Given the description of an element on the screen output the (x, y) to click on. 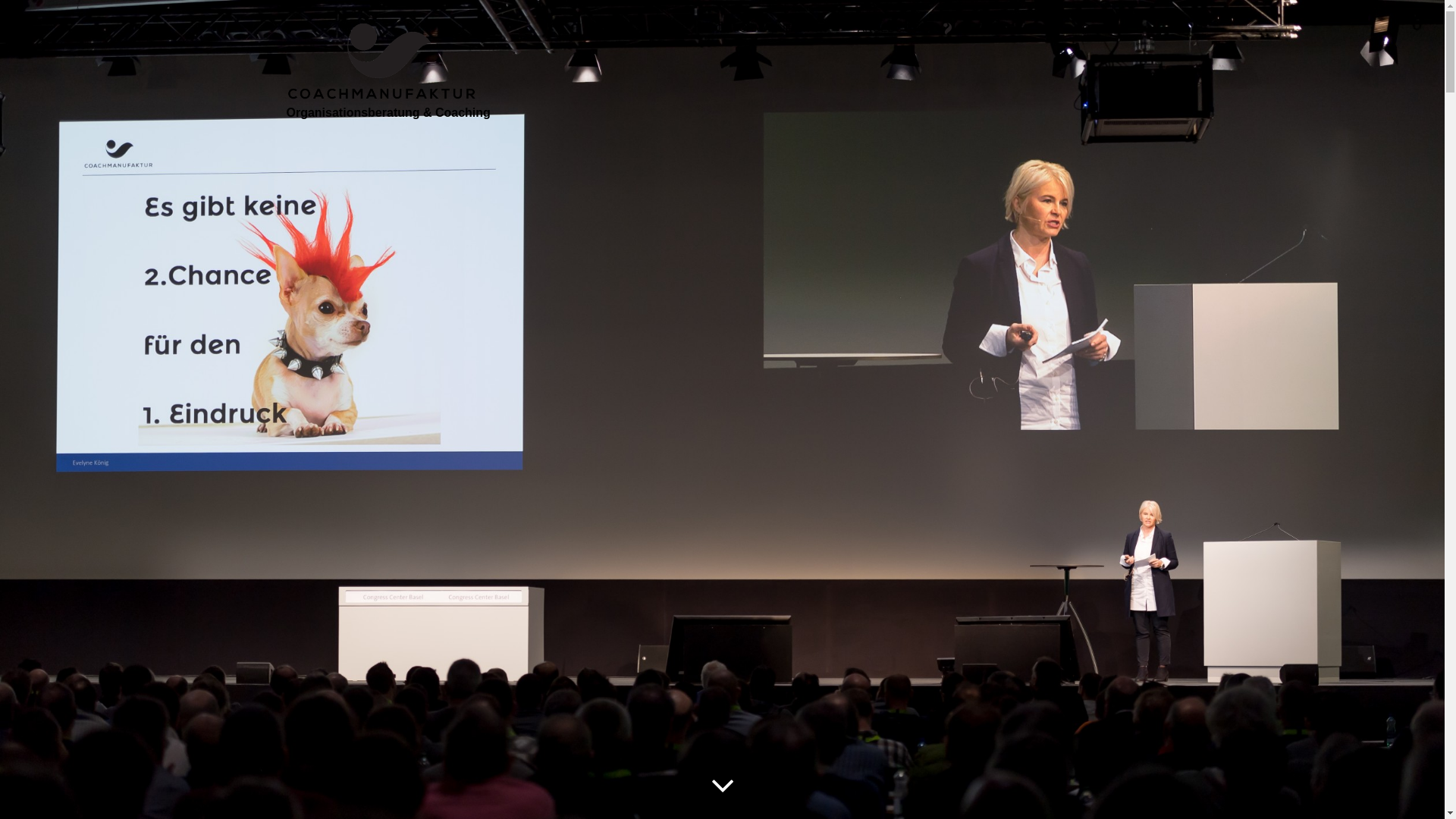
KONTAKT Element type: text (1099, 27)
COACHMANUFAKTUR Element type: text (771, 27)
Organisationsberatung & Coaching Element type: text (388, 59)
ANGEBOT Element type: text (883, 27)
